Given the description of an element on the screen output the (x, y) to click on. 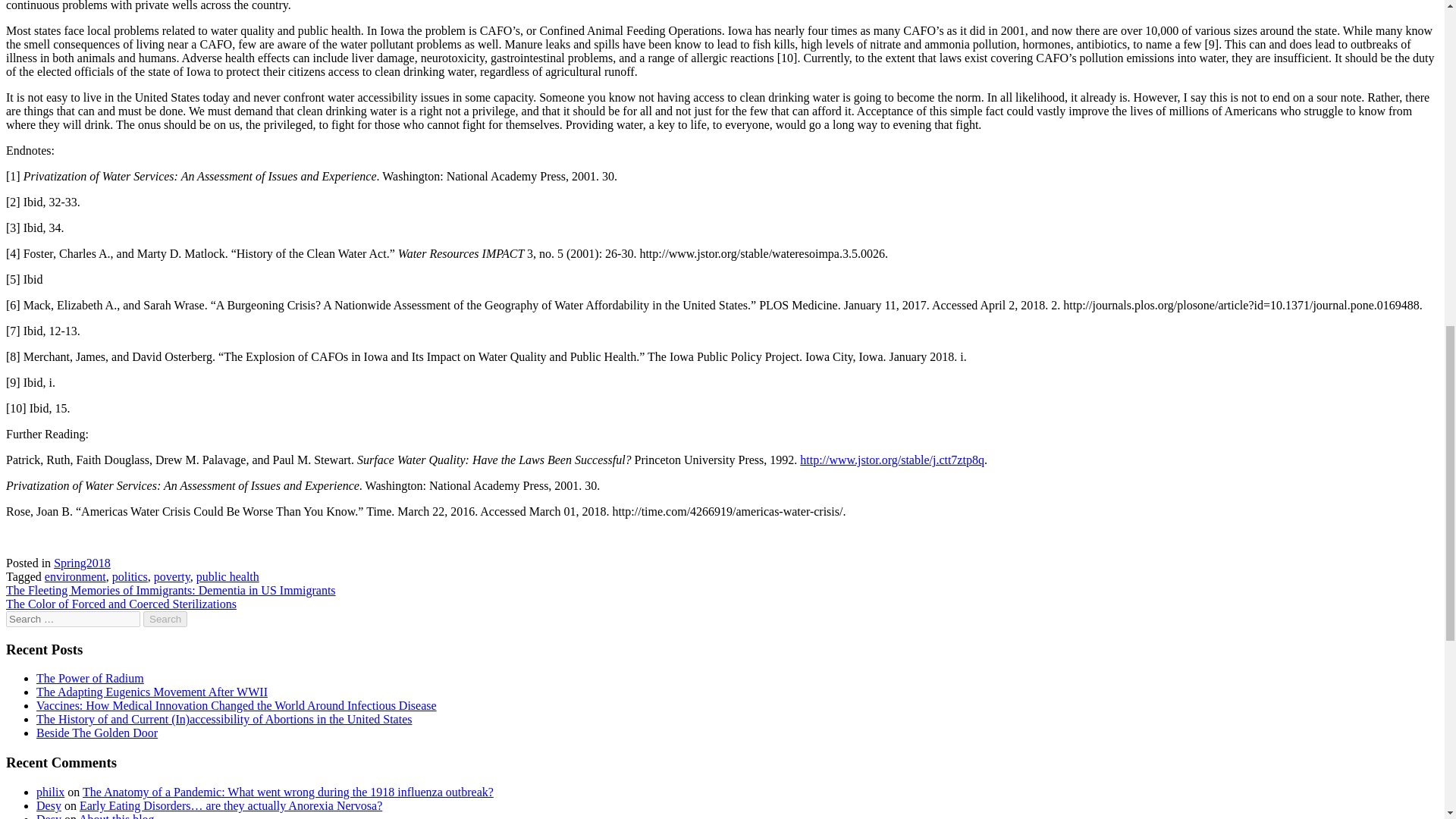
philix (50, 791)
Desy (48, 805)
Search (164, 618)
environment (75, 576)
The Power of Radium (90, 677)
poverty (172, 576)
The Color of Forced and Coerced Sterilizations (120, 603)
Desy (48, 816)
